Given the description of an element on the screen output the (x, y) to click on. 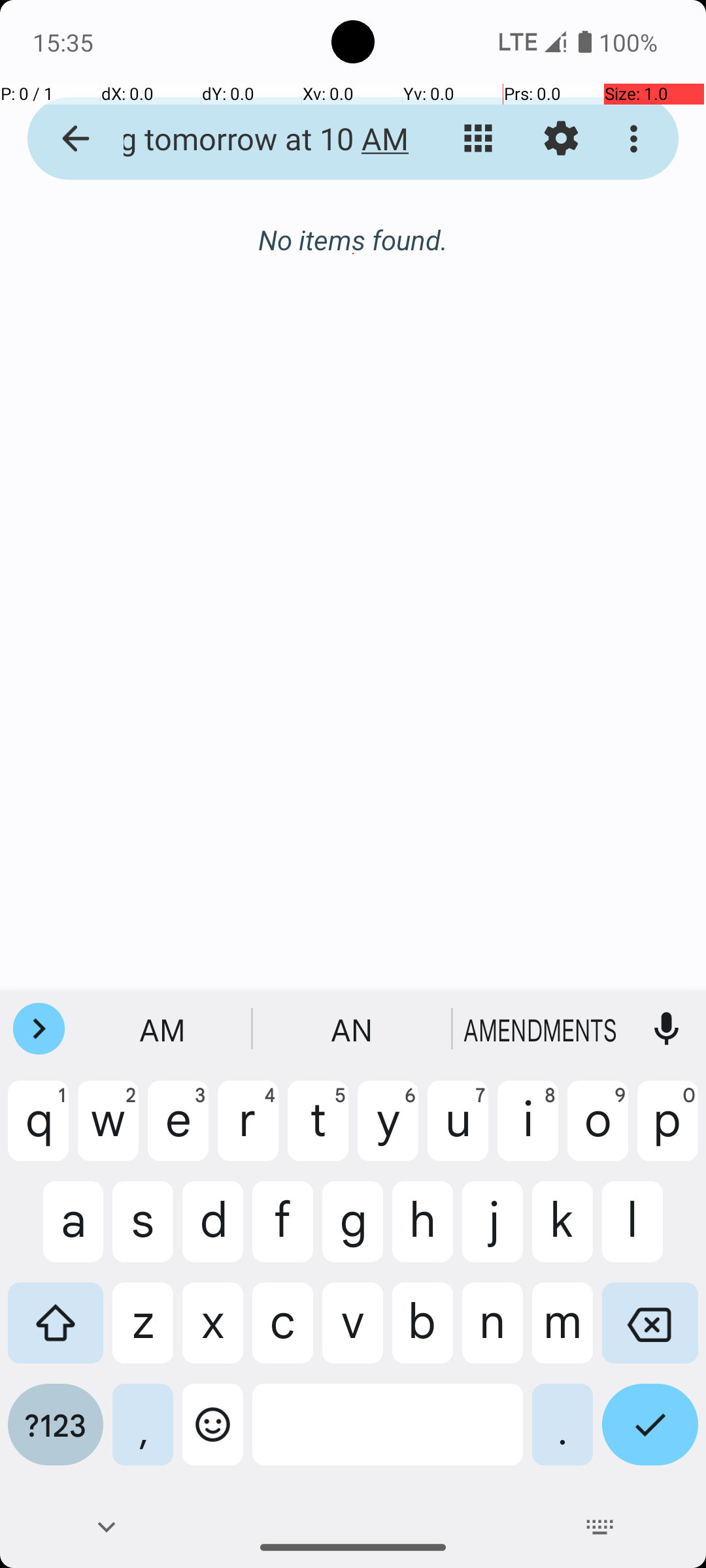
meeting tomorrow at 10 AM Element type: android.widget.EditText (252, 138)
AN Element type: android.widget.FrameLayout (352, 1028)
AMENDMENTS Element type: android.widget.FrameLayout (541, 1028)
